Given the description of an element on the screen output the (x, y) to click on. 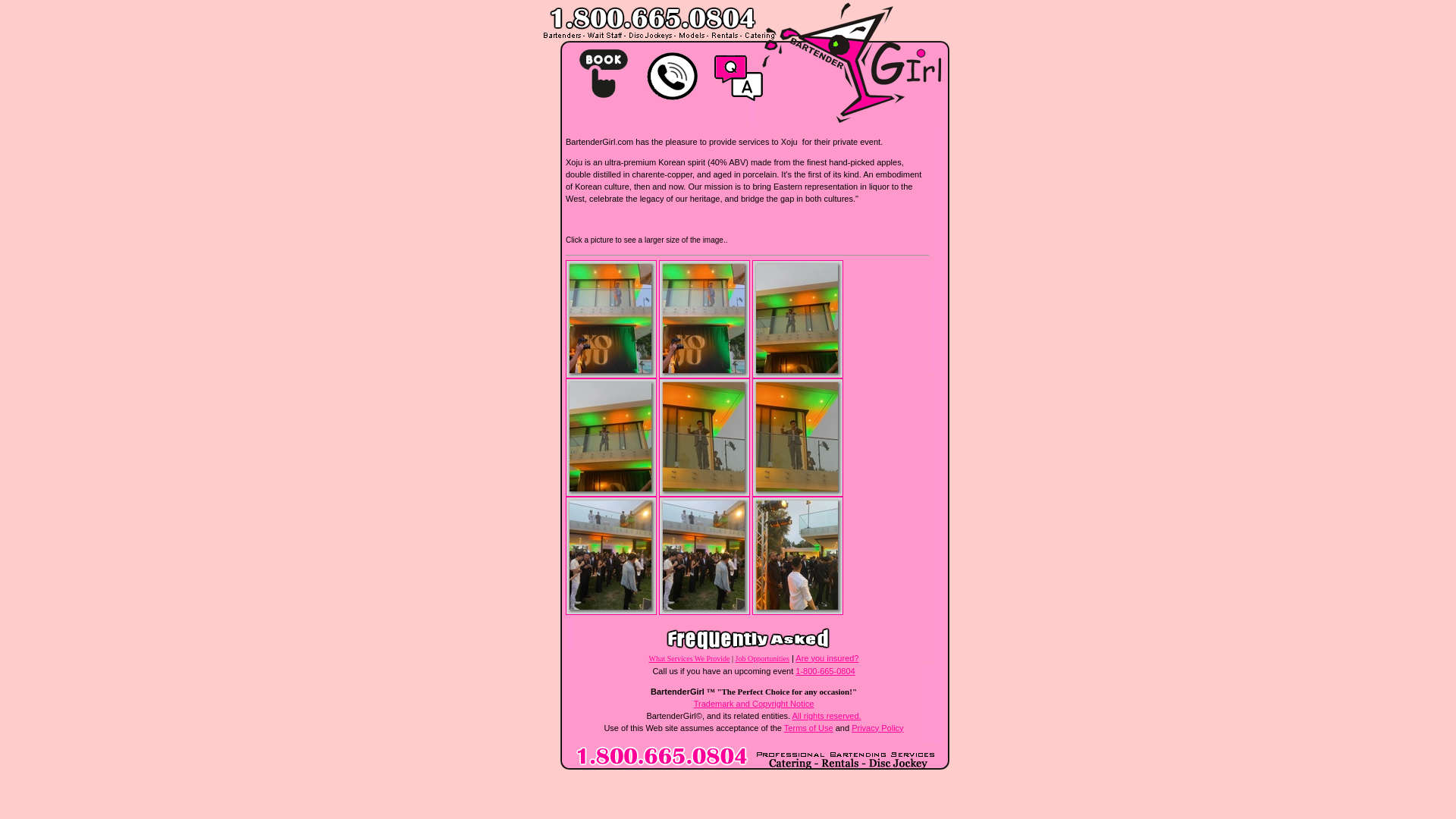
Soyu Event (611, 318)
Terms of Use (808, 727)
Job Opportunities (762, 657)
Soyu Event (611, 436)
Soyu Event (797, 318)
What Services We Provide (689, 657)
Privacy Policy (876, 727)
Soyu Event (797, 555)
Soyu Event (797, 436)
1-800-665-0804 (824, 669)
Soyu Event (704, 318)
Soyu Event (704, 436)
Soyu Event (611, 555)
Soyu Event (704, 555)
Trademark and Copyright Notice (753, 703)
